Given the description of an element on the screen output the (x, y) to click on. 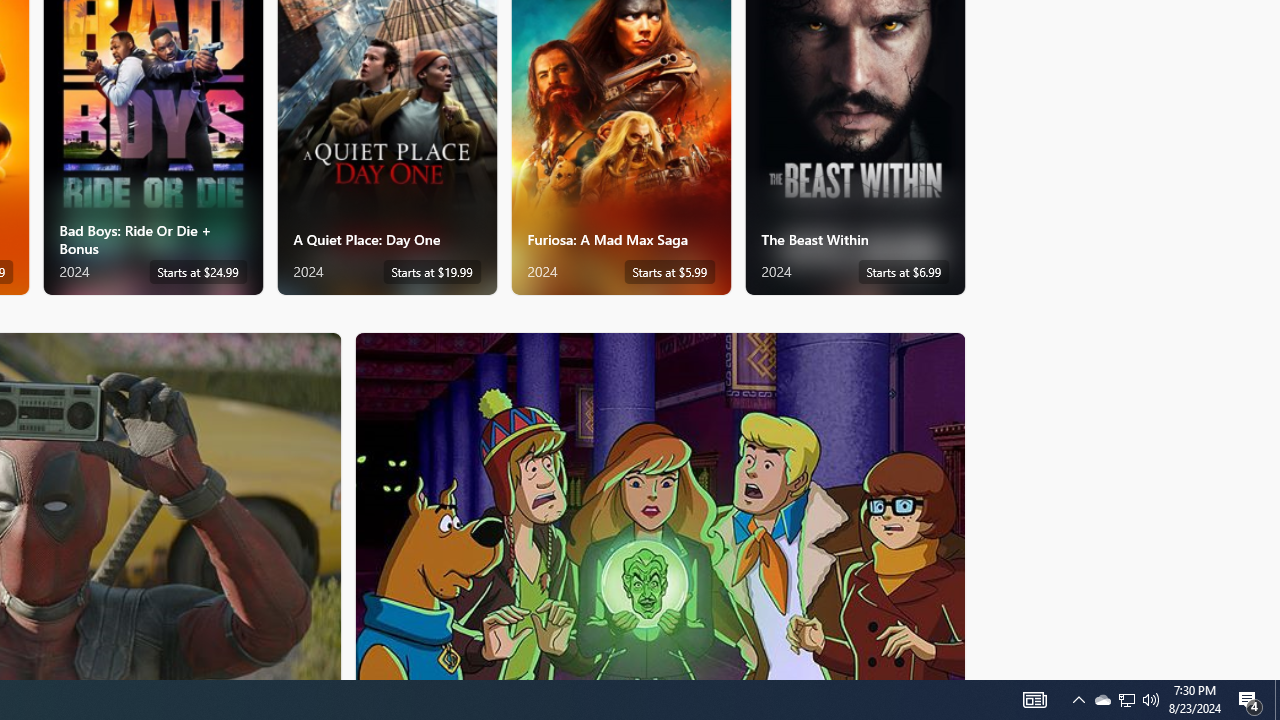
Family (660, 505)
AutomationID: PosterImage (658, 505)
